Given the description of an element on the screen output the (x, y) to click on. 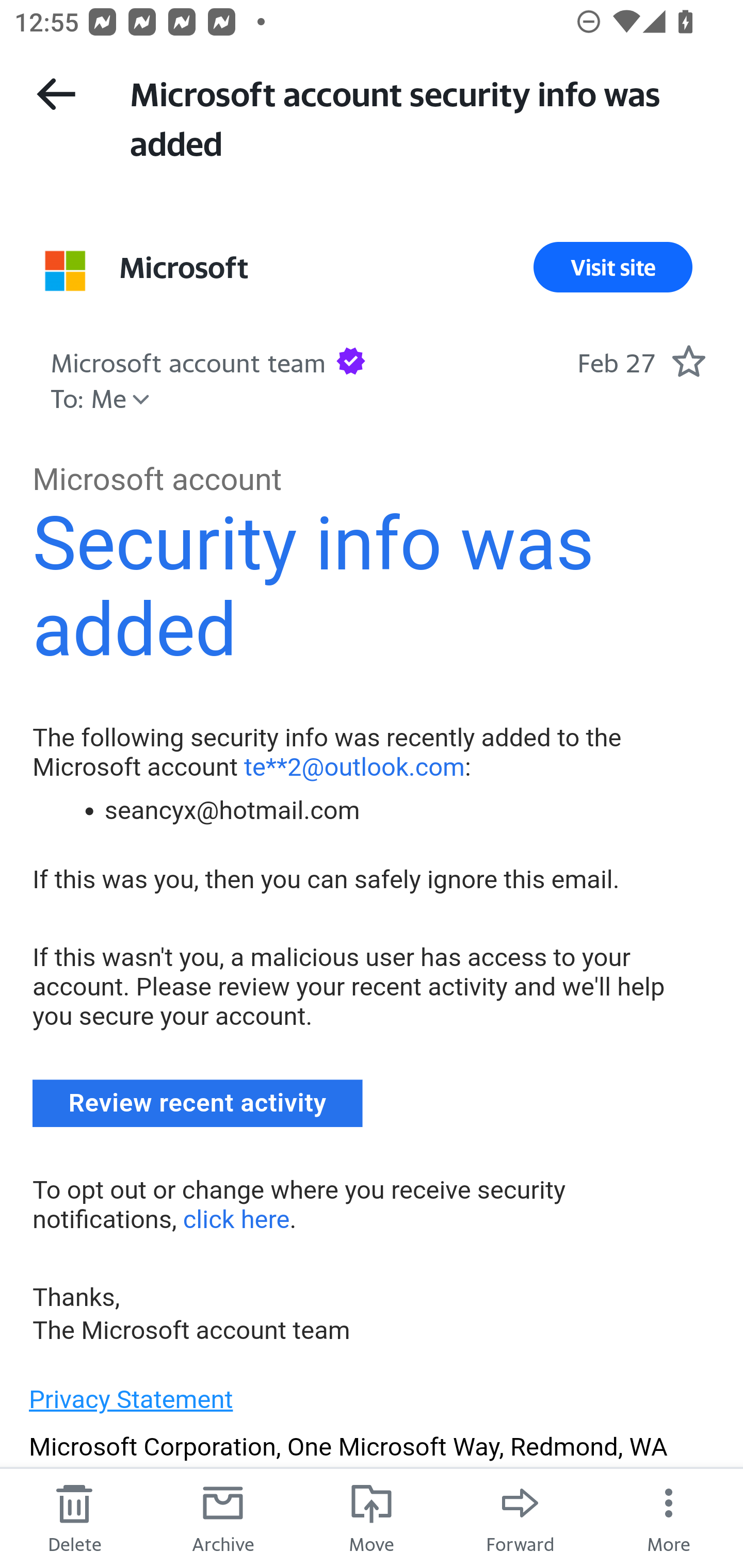
Back (55, 93)
Microsoft account security info was added (418, 116)
View all messages from sender (64, 270)
Visit site Visit Site Link (612, 267)
Microsoft Sender Microsoft (183, 266)
Mark as starred. (688, 361)
te**2@outlook.com (354, 766)
Review recent activity (197, 1102)
click here (235, 1218)
Privacy Statement (131, 1398)
Delete (74, 1517)
Archive (222, 1517)
Move (371, 1517)
Forward (519, 1517)
More (668, 1517)
